Given the description of an element on the screen output the (x, y) to click on. 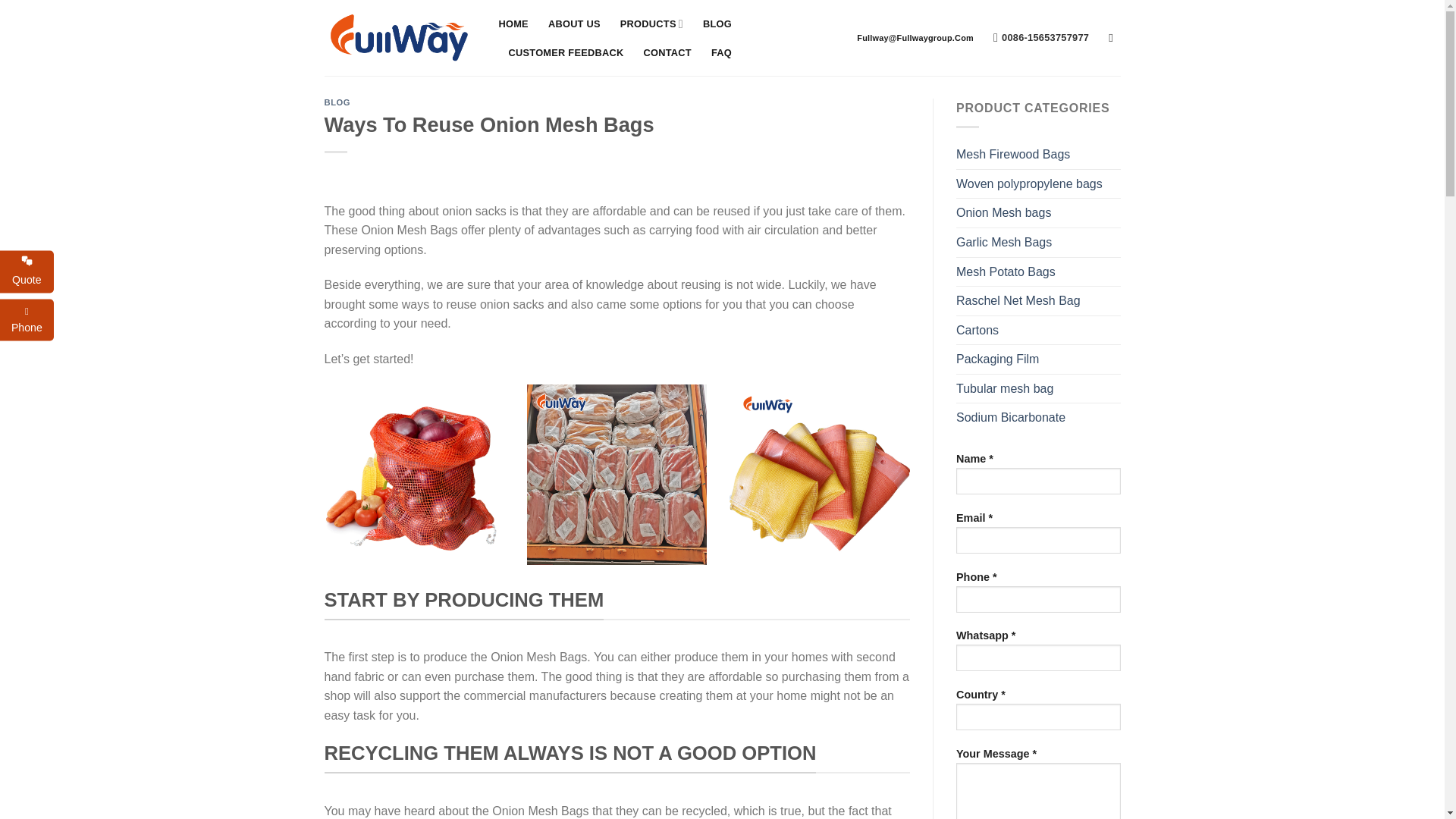
HOME (513, 23)
Mesh Firewood Bags (1038, 154)
CUSTOMER FEEDBACK (565, 52)
CONTACT (666, 52)
Onion Mesh bags (1038, 213)
BLOG (337, 102)
Mesh Potato Bags (1038, 271)
Woven polypropylene bags (1038, 184)
0086-15653757977 (1040, 37)
Garlic Mesh Bags (1038, 242)
BLOG (717, 23)
PRODUCTS (651, 23)
0086-15653757977 (1040, 37)
ABOUT US (573, 23)
